Given the description of an element on the screen output the (x, y) to click on. 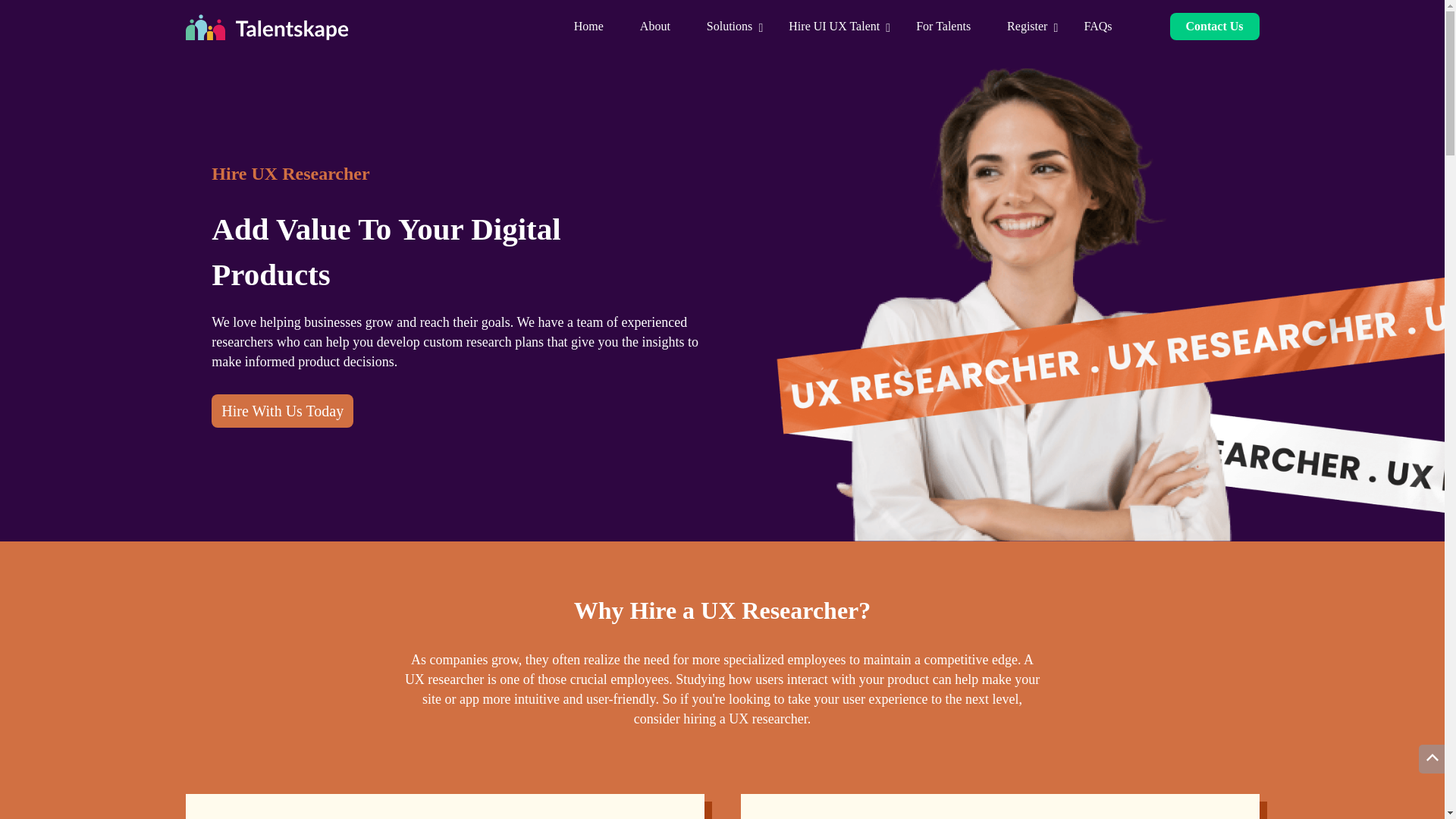
Solutions (729, 25)
Contact Us (1214, 26)
For Talents (943, 25)
Register (1026, 25)
Home (588, 25)
Hire UI UX Talent (834, 25)
About (654, 25)
FAQs (1097, 25)
